Given the description of an element on the screen output the (x, y) to click on. 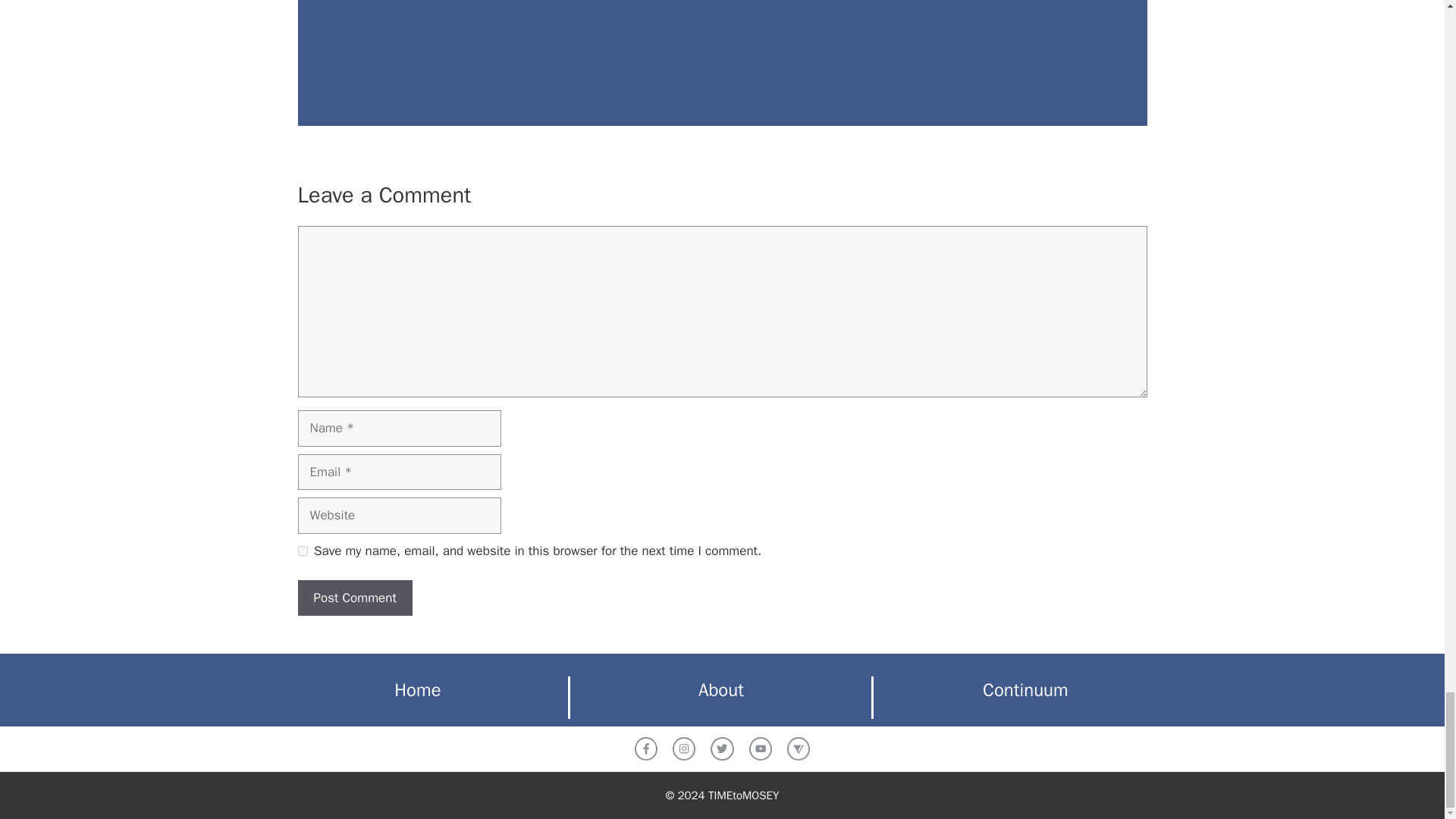
Post Comment (354, 597)
Post Comment (354, 597)
yes (302, 551)
Home (417, 689)
